Given the description of an element on the screen output the (x, y) to click on. 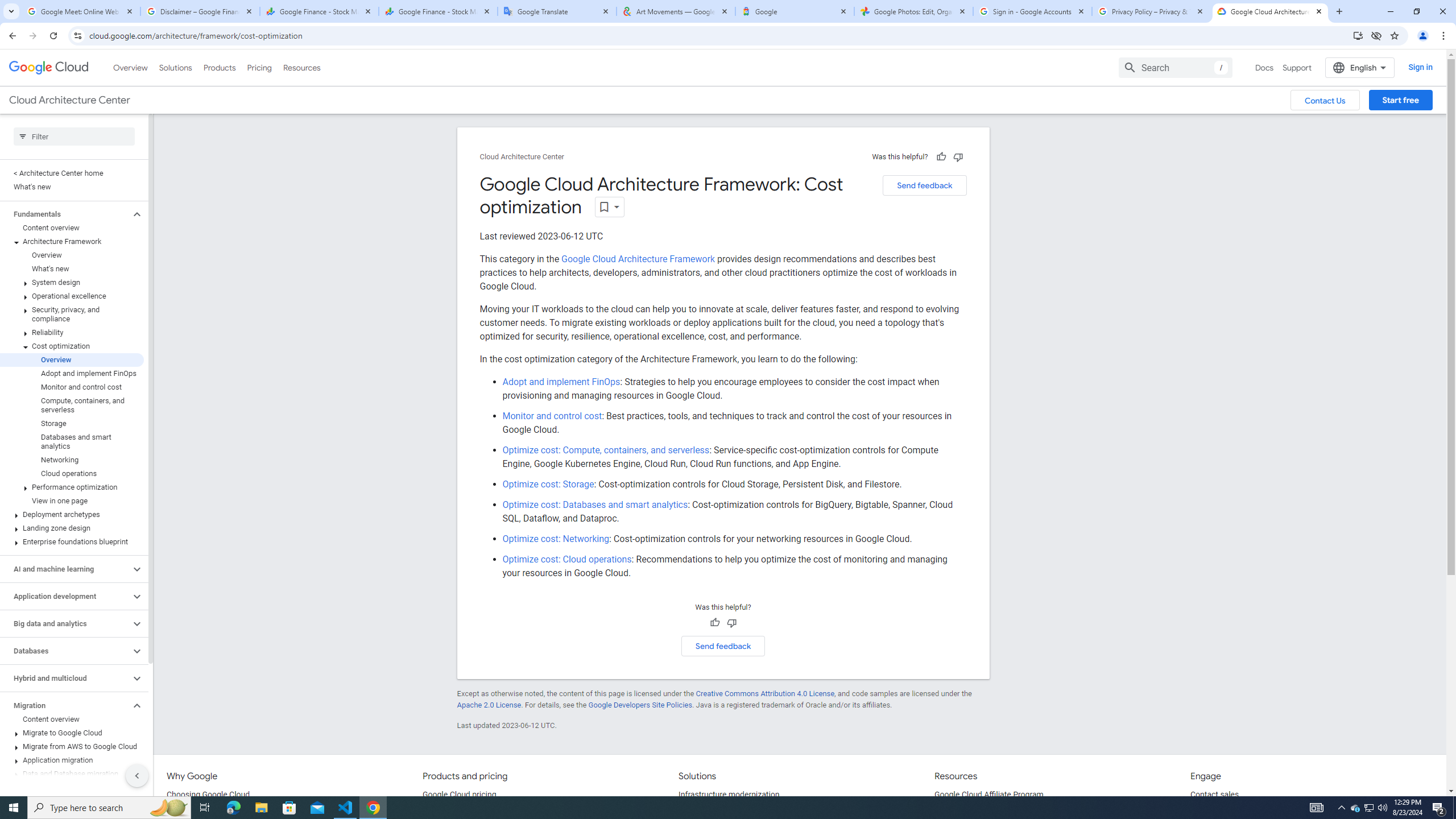
Creative Commons Attribution 4.0 License (764, 693)
Open dropdown (609, 206)
Landing zone design (72, 527)
Deployment archetypes (72, 514)
Sign in - Google Accounts (1032, 11)
Google Cloud (48, 67)
< Architecture Center home (72, 173)
Type to filter (74, 136)
Storage (72, 423)
Solutions (175, 67)
Performance optimization (72, 486)
